Given the description of an element on the screen output the (x, y) to click on. 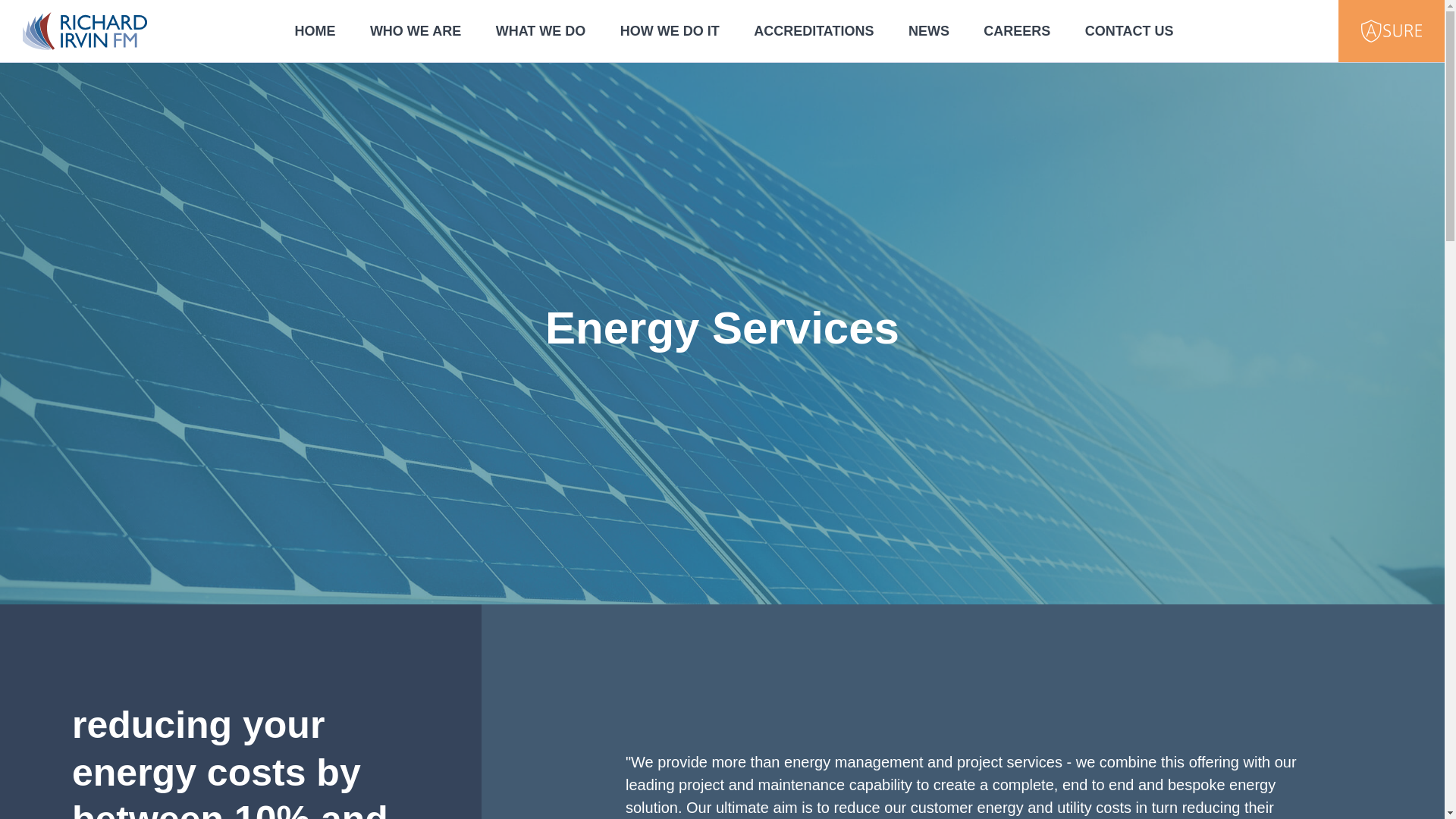
CAREERS (1016, 31)
HOW WE DO IT (669, 31)
NEWS (928, 31)
WHO WE ARE (414, 31)
CONTACT US (1128, 31)
ACCREDITATIONS (813, 31)
WHAT WE DO (540, 31)
HOME (314, 31)
